Given the description of an element on the screen output the (x, y) to click on. 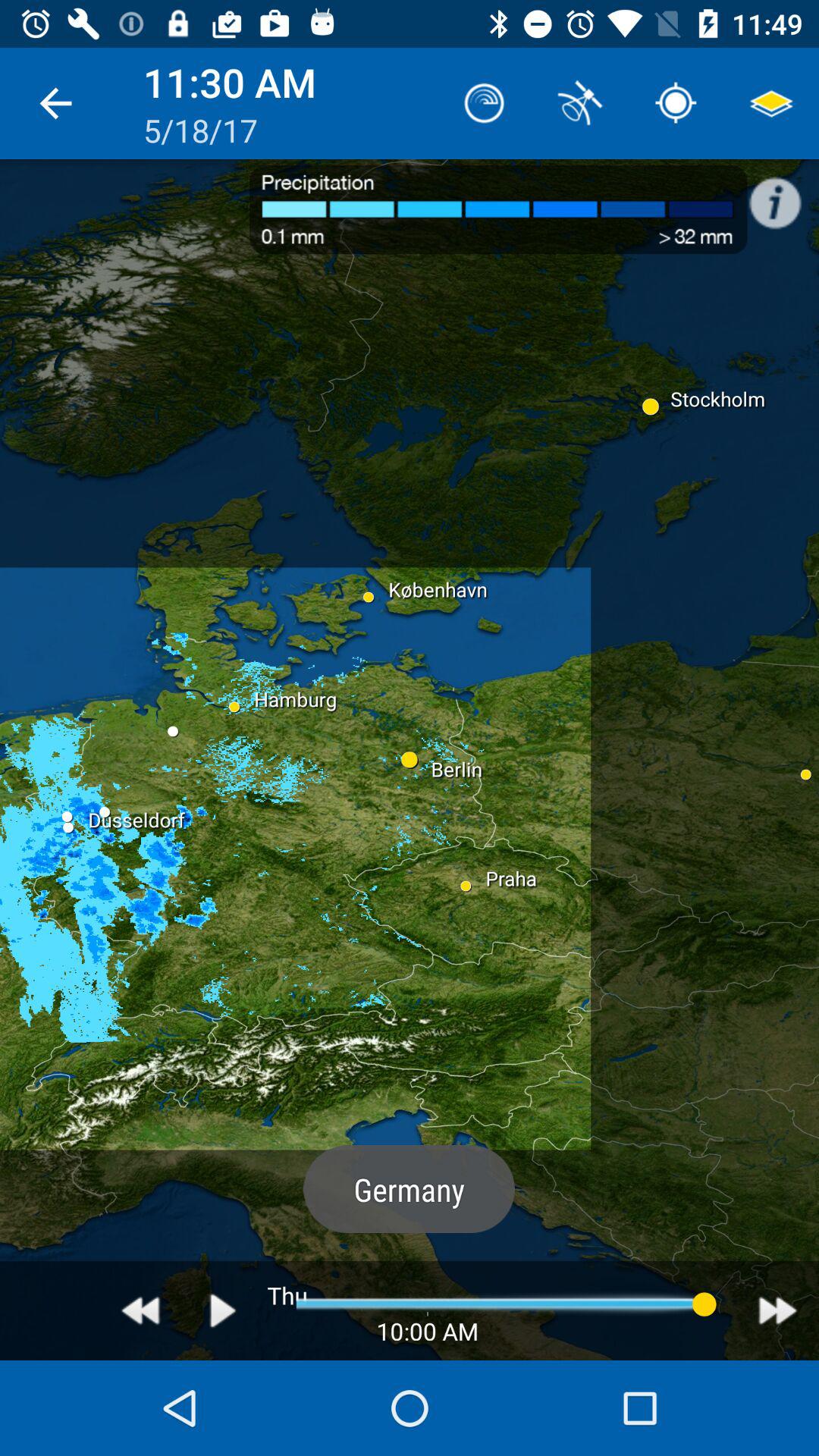
play (223, 1310)
